Given the description of an element on the screen output the (x, y) to click on. 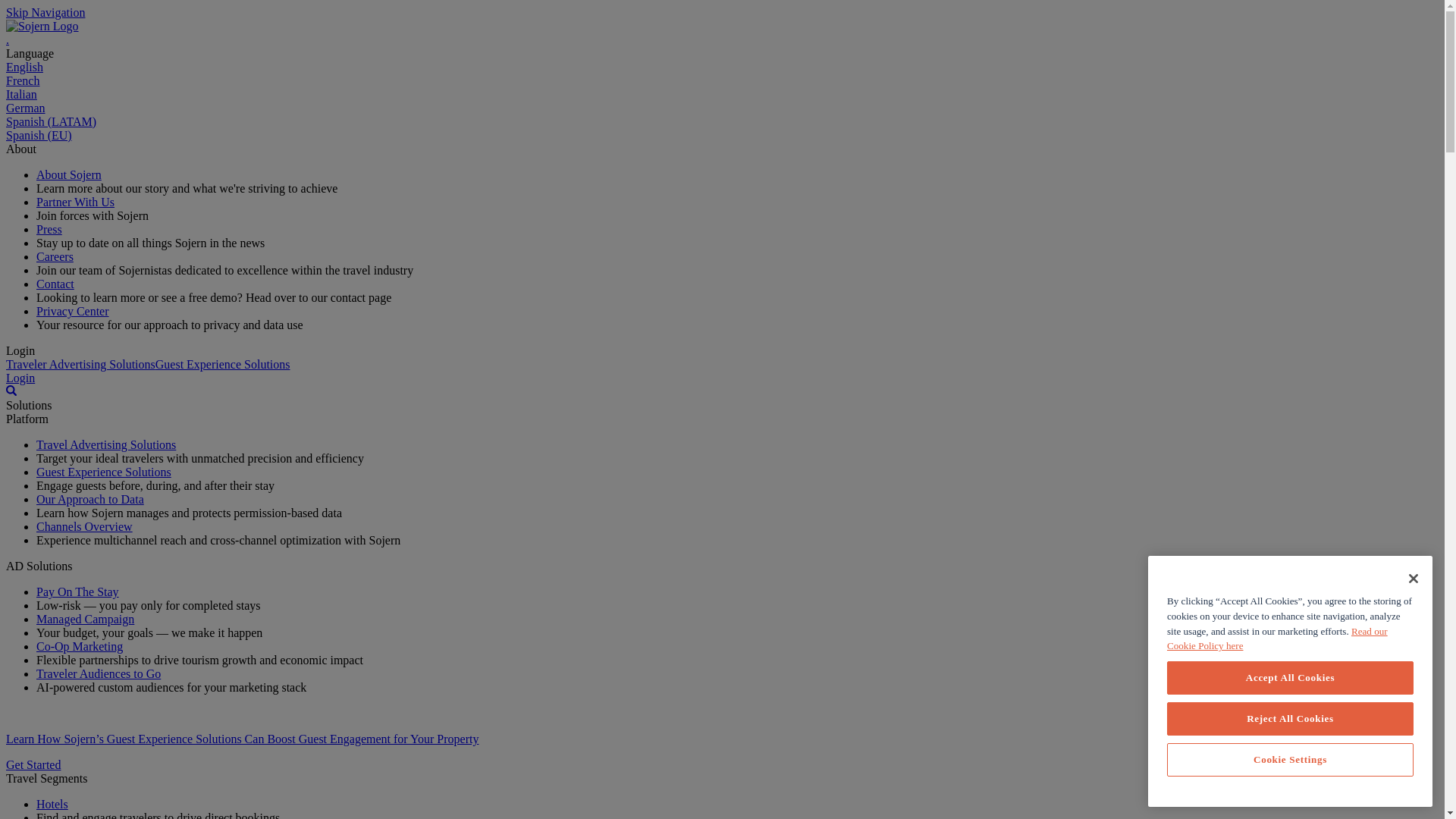
Guest Experience Solutions (103, 472)
Hotels (52, 803)
Contact (55, 283)
Pay On The Stay (77, 591)
Traveler Audiences to Go (98, 673)
Guest Experience Solutions (222, 364)
Travel Advertising Solutions (106, 444)
German (25, 107)
Partner With Us (75, 201)
Italian (21, 93)
Our Approach to Data (90, 499)
Press (49, 228)
Co-Op Marketing (79, 645)
Traveler Advertising Solutions (80, 364)
Careers (55, 256)
